Given the description of an element on the screen output the (x, y) to click on. 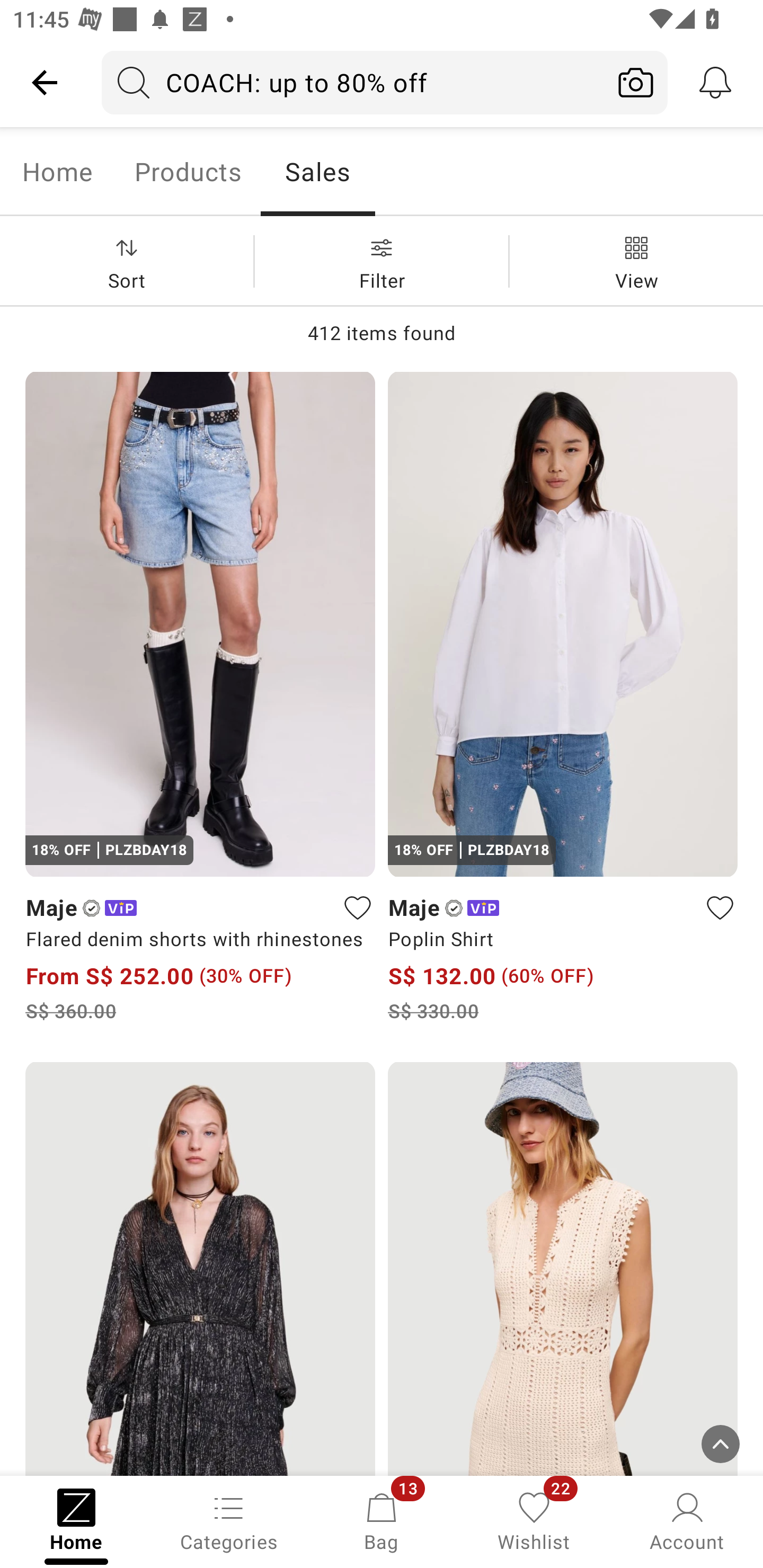
Navigate up (44, 82)
COACH: up to 80% off (352, 82)
Home (57, 171)
Products (187, 171)
Categories (228, 1519)
Bag, 13 new notifications Bag (381, 1519)
Wishlist, 22 new notifications Wishlist (533, 1519)
Account (686, 1519)
